Given the description of an element on the screen output the (x, y) to click on. 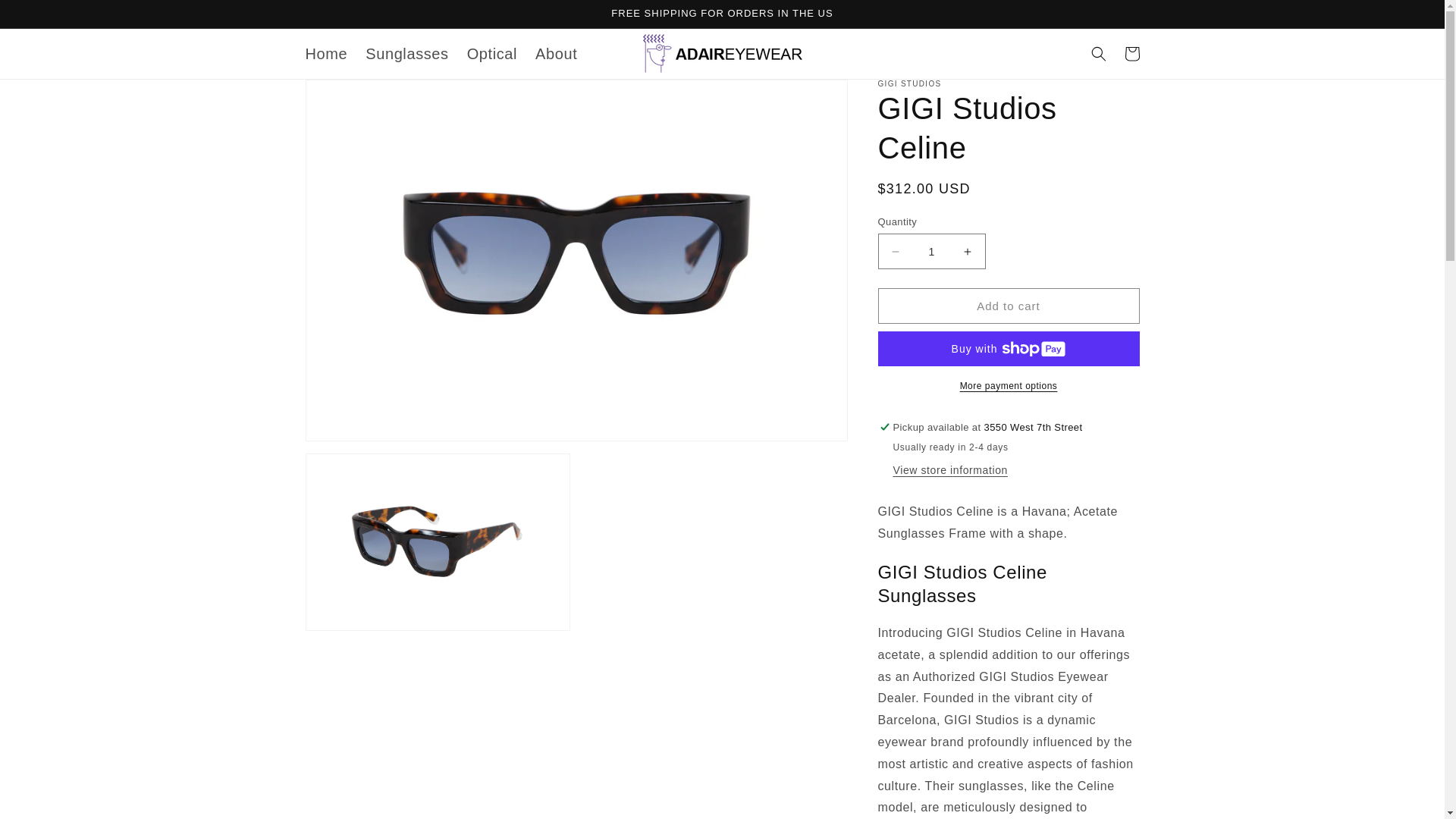
Home (325, 53)
Skip to content (45, 17)
Optical (491, 53)
About (555, 53)
Sunglasses (406, 53)
Add to cart (1008, 305)
Cart (1131, 53)
View store information (950, 470)
Decrease quantity for GIGI Studios Celine (894, 251)
More payment options (1008, 385)
1 (931, 251)
Skip to product information (350, 96)
Increase quantity for GIGI Studios Celine (967, 251)
